Given the description of an element on the screen output the (x, y) to click on. 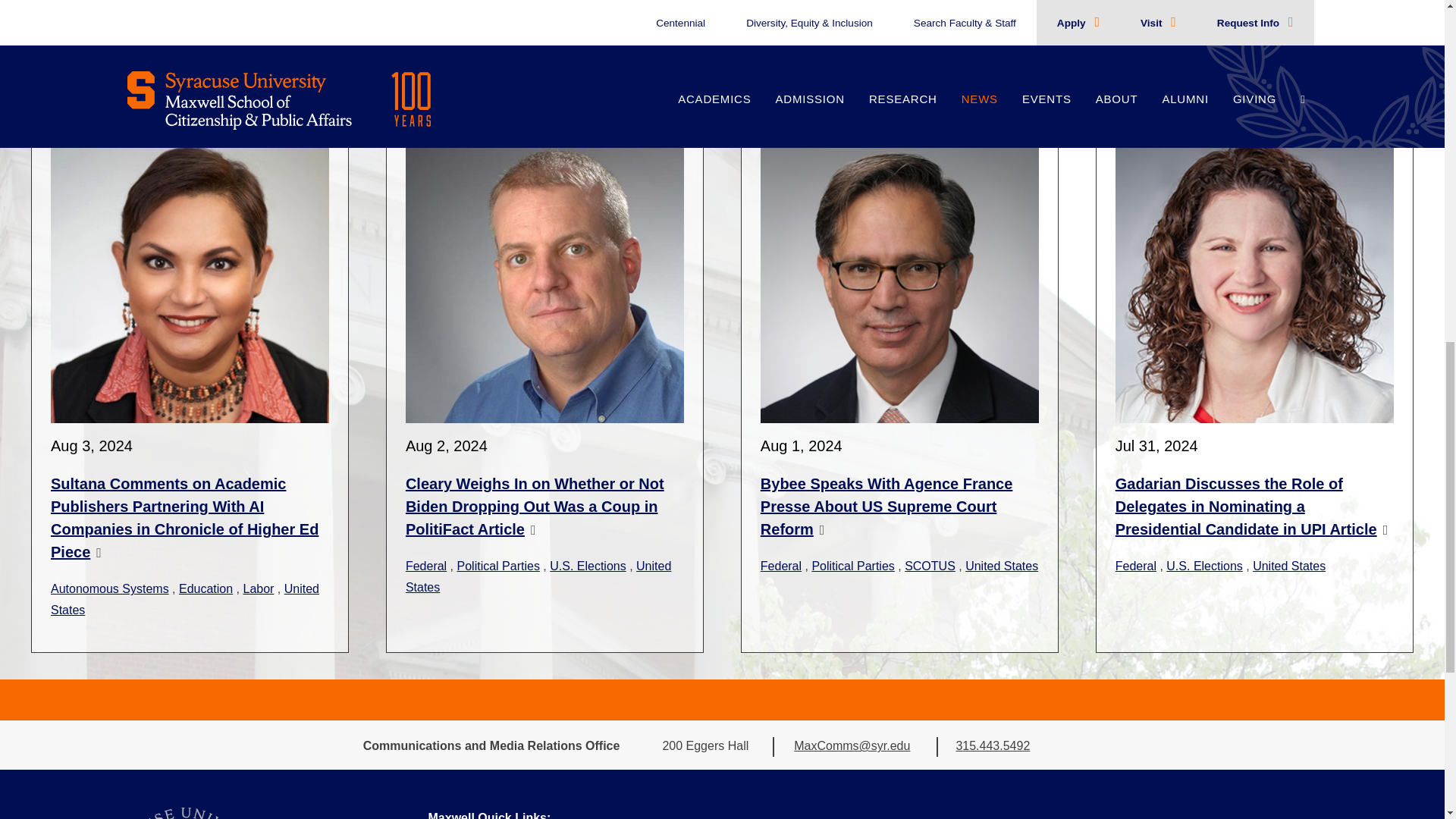
su-seal (183, 813)
